Given the description of an element on the screen output the (x, y) to click on. 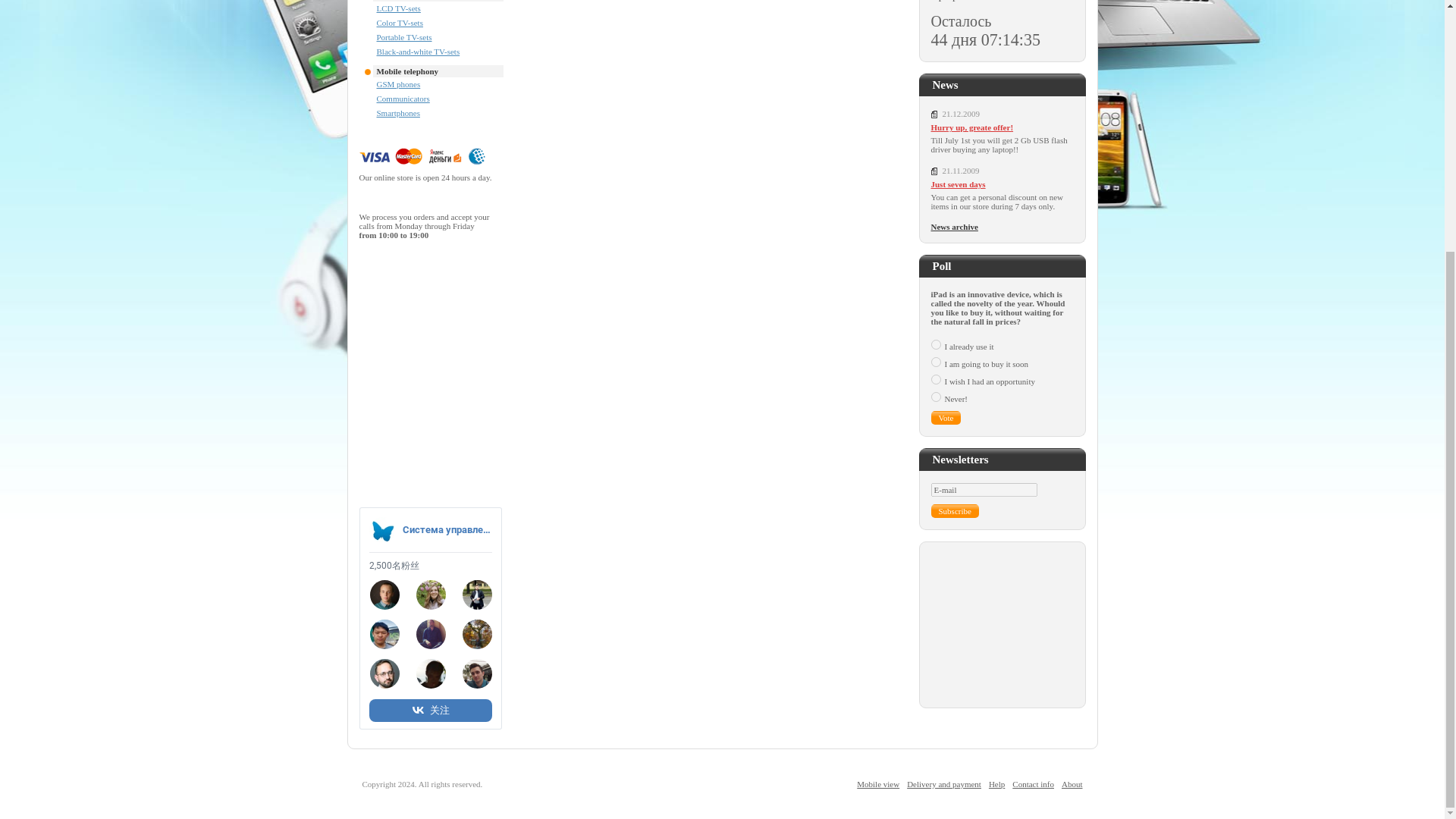
Black-and-white TV-sets (417, 51)
Smartphones (397, 112)
News archive (954, 225)
E-mail (983, 489)
Portable TV-sets (402, 36)
388 (935, 361)
Mobile telephony (406, 71)
Hurry up, greate offer! (1002, 126)
389 (935, 379)
Delivery and payment (944, 783)
Communicators (402, 98)
Subscribe (954, 510)
Color TV-sets (398, 22)
GSM phones (397, 83)
Vote (945, 418)
